Given the description of an element on the screen output the (x, y) to click on. 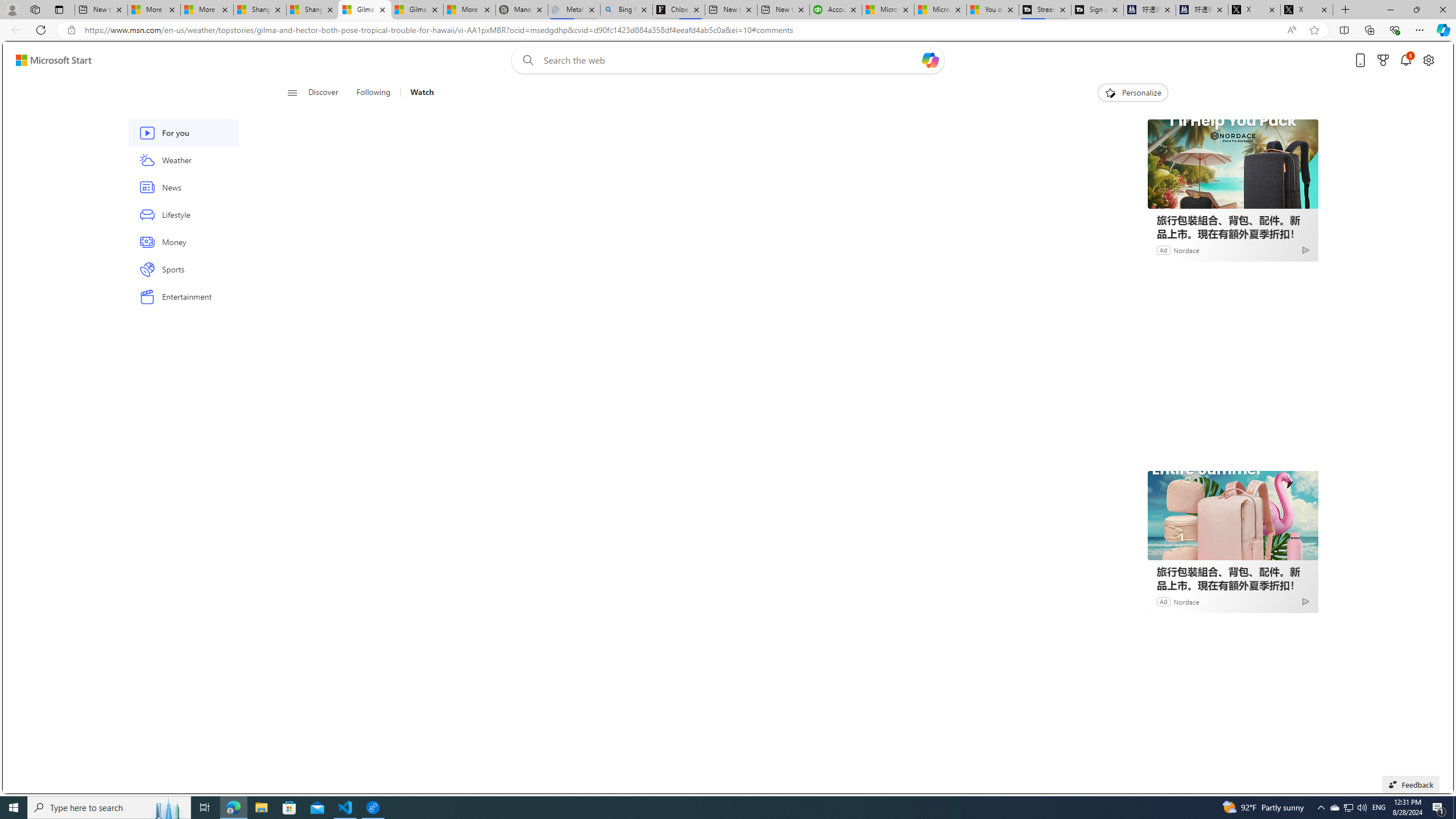
Bing Real Estate - Home sales and rental listings (626, 9)
Personalize (1132, 92)
Chloe Sorvino (678, 9)
Microsoft Start Sports (887, 9)
Ad Choice (1305, 601)
App bar (728, 29)
Ad (1162, 601)
Address and search bar (680, 29)
